Given the description of an element on the screen output the (x, y) to click on. 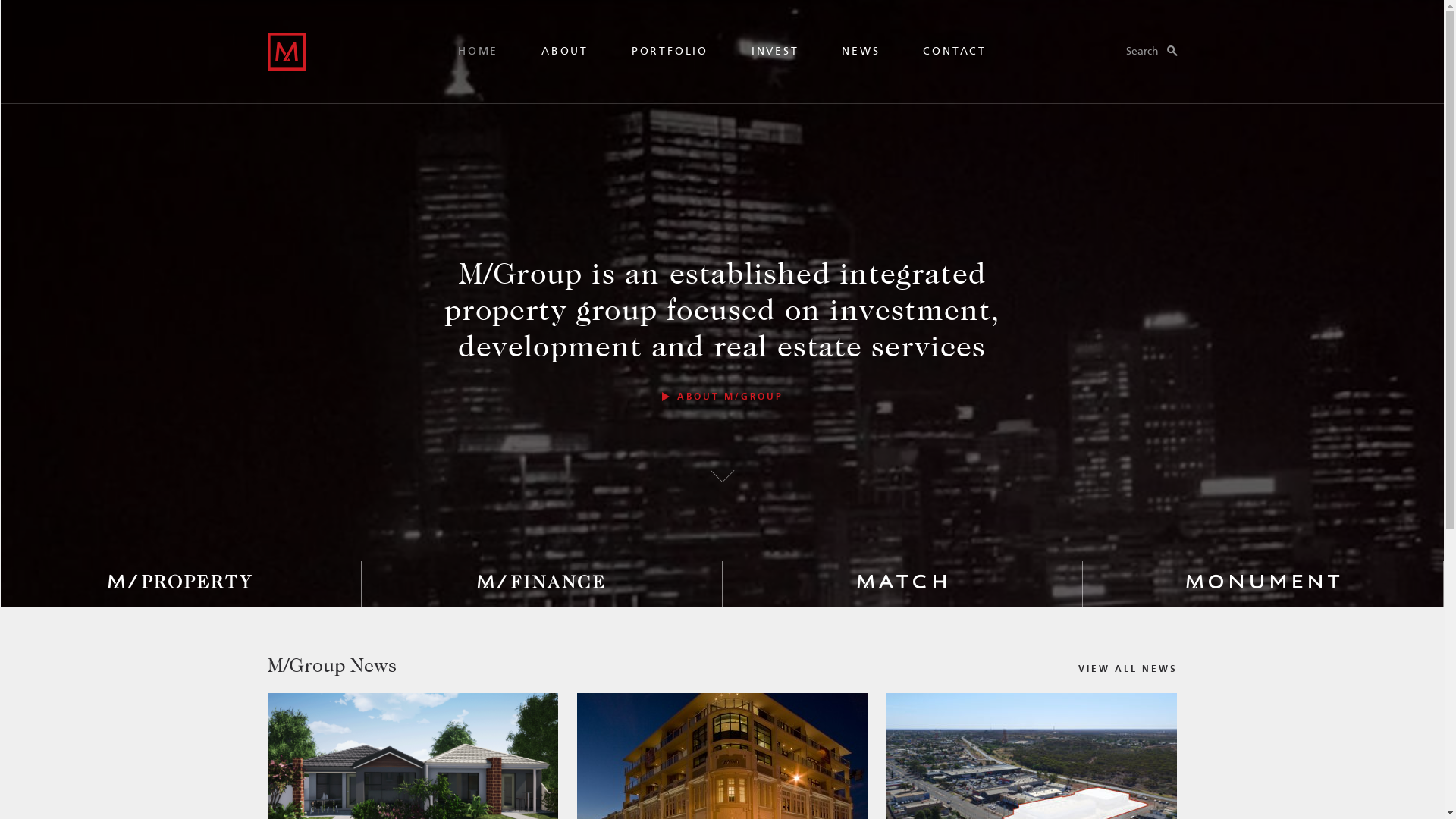
www.itsamatch.com.au Element type: text (901, 583)
www.landbymonument.com.au Element type: text (1262, 583)
M/Group Element type: text (285, 51)
submit search Element type: text (1141, 274)
www.mproperty.com.au Element type: text (180, 583)
www.mfinance.com.au Element type: text (541, 583)
NEWS Element type: text (860, 51)
HOME Element type: text (478, 51)
INVEST Element type: text (775, 51)
ABOUT M/GROUP Element type: text (721, 397)
VIEW ALL NEWS Element type: text (1127, 669)
Search Element type: text (1150, 51)
CONTACT Element type: text (954, 51)
Scroll for more content Element type: text (721, 477)
PORTFOLIO Element type: text (669, 51)
ABOUT Element type: text (564, 51)
